Given the description of an element on the screen output the (x, y) to click on. 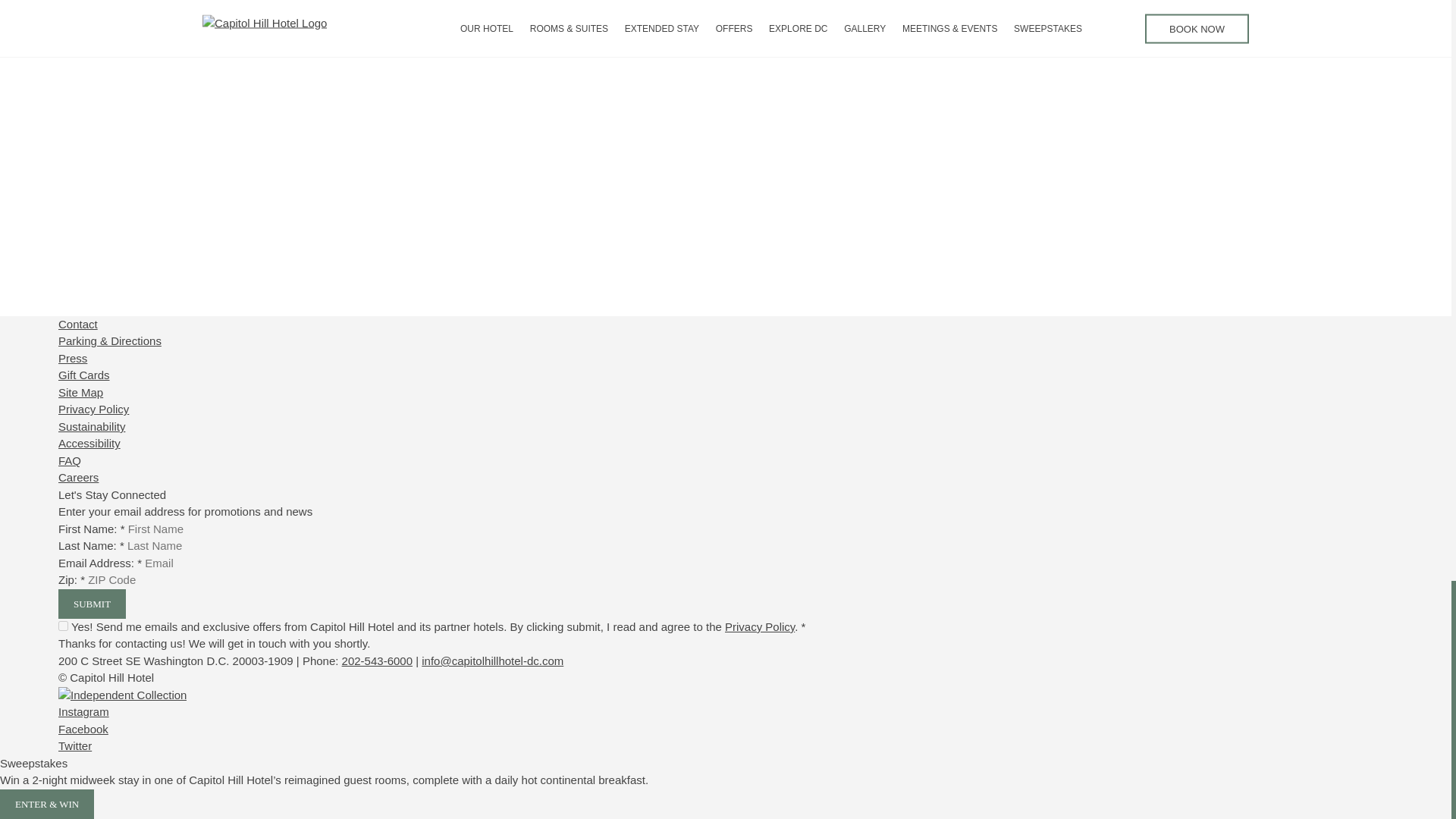
Submit (91, 603)
on (63, 625)
